Given the description of an element on the screen output the (x, y) to click on. 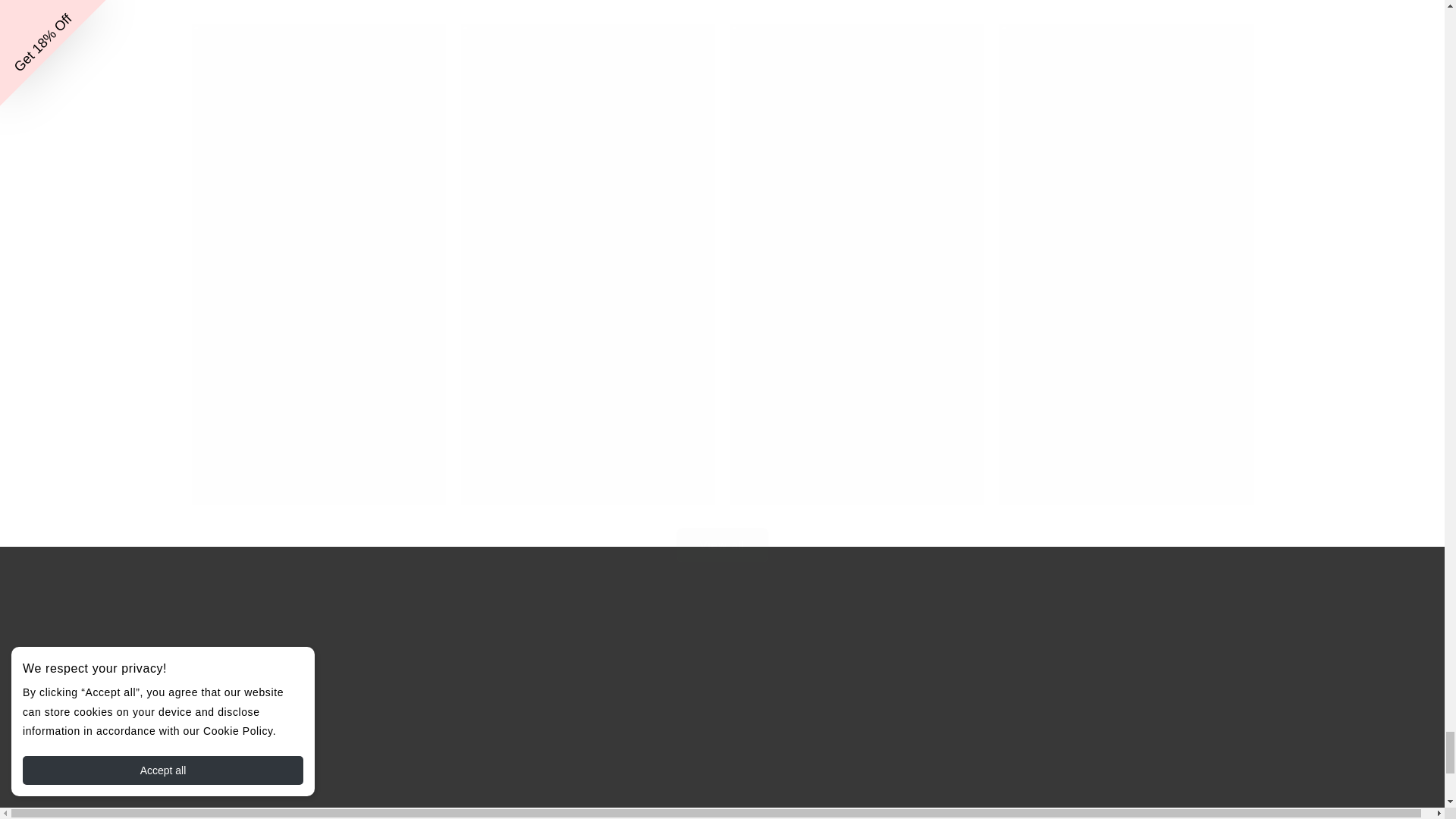
View all (721, 525)
